Given the description of an element on the screen output the (x, y) to click on. 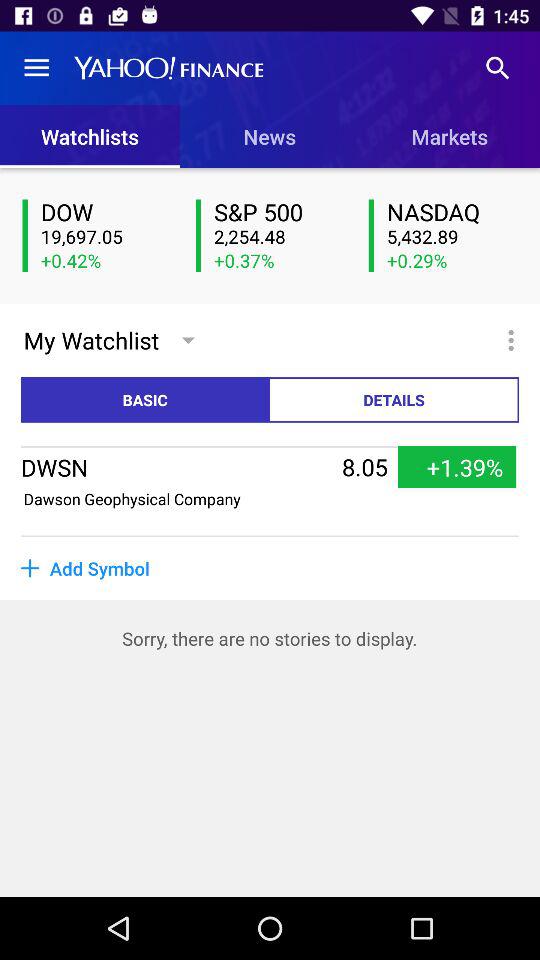
click the dow icon (105, 212)
